Given the description of an element on the screen output the (x, y) to click on. 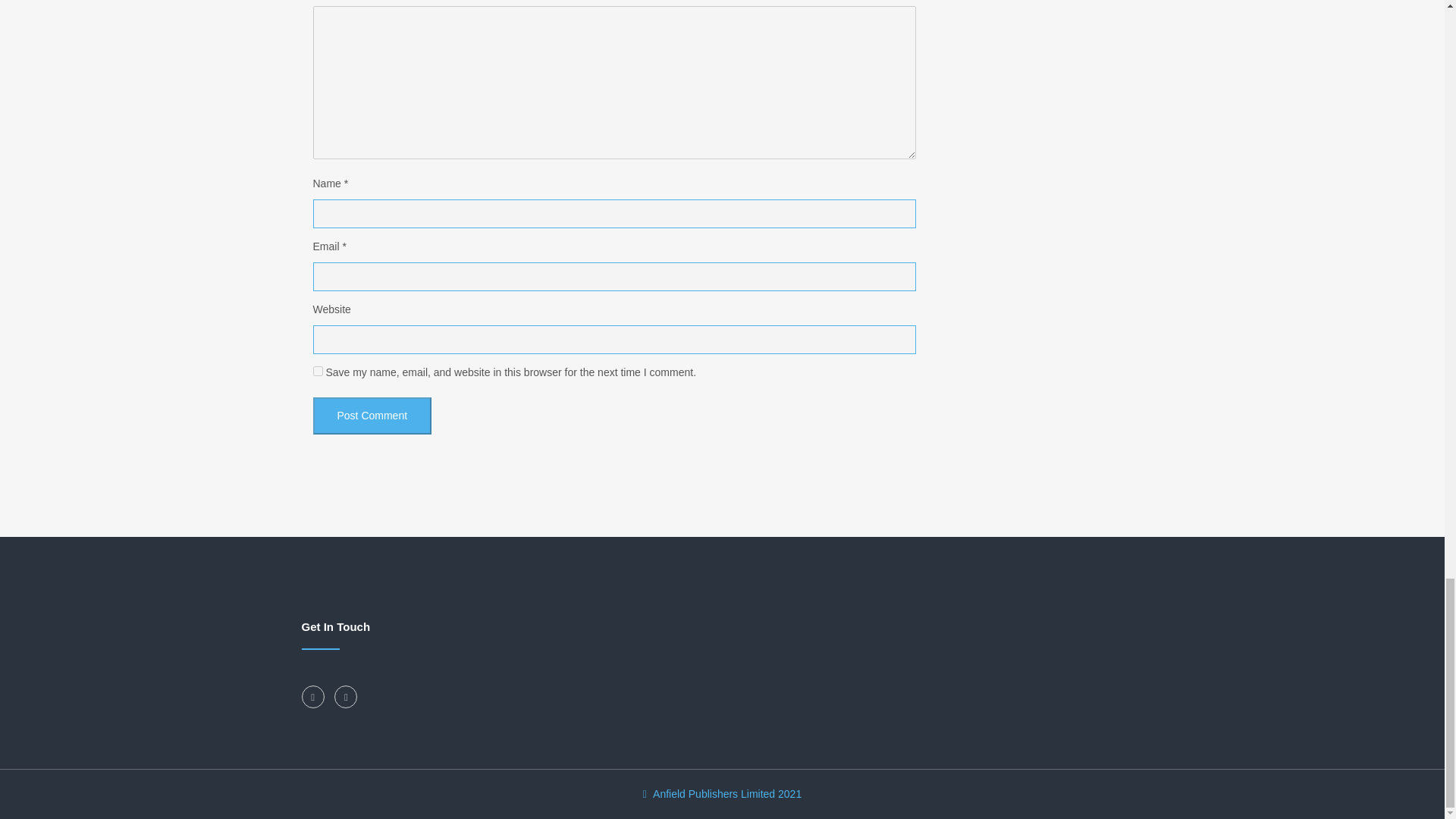
yes (317, 370)
Post Comment (371, 415)
Post Comment (371, 415)
